Given the description of an element on the screen output the (x, y) to click on. 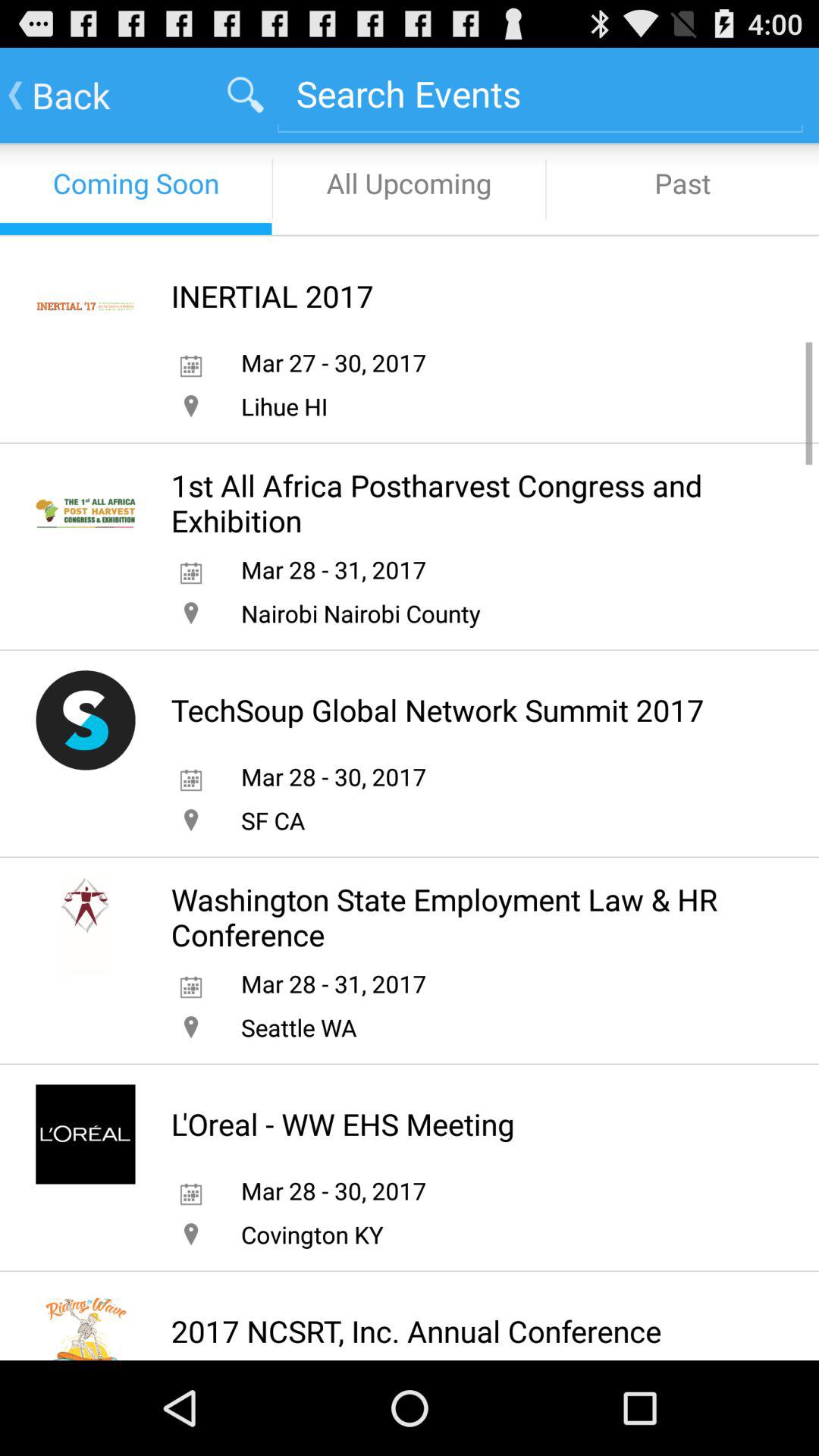
tap the inertial 2017 icon (272, 295)
